Given the description of an element on the screen output the (x, y) to click on. 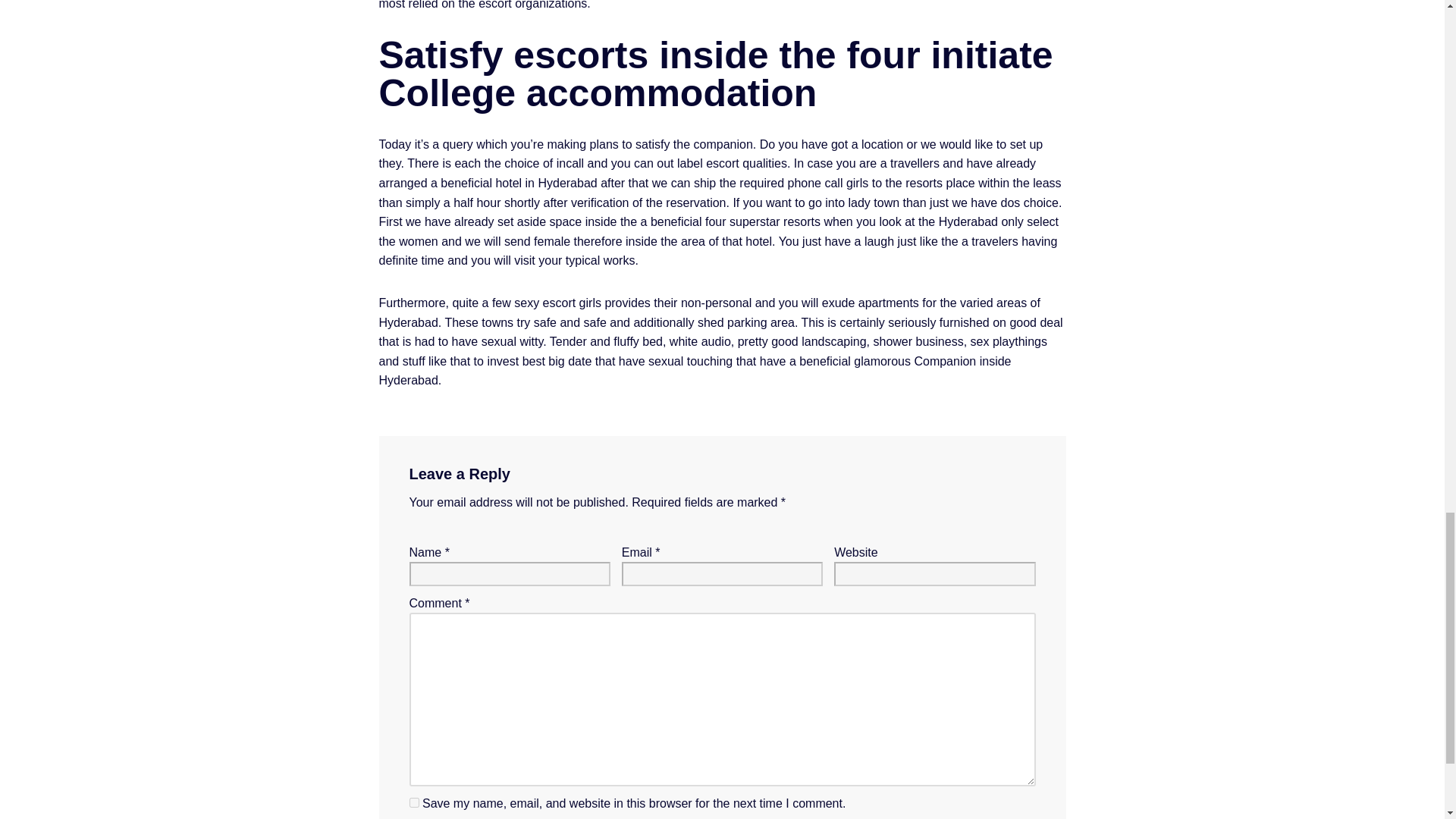
yes (414, 802)
